Given the description of an element on the screen output the (x, y) to click on. 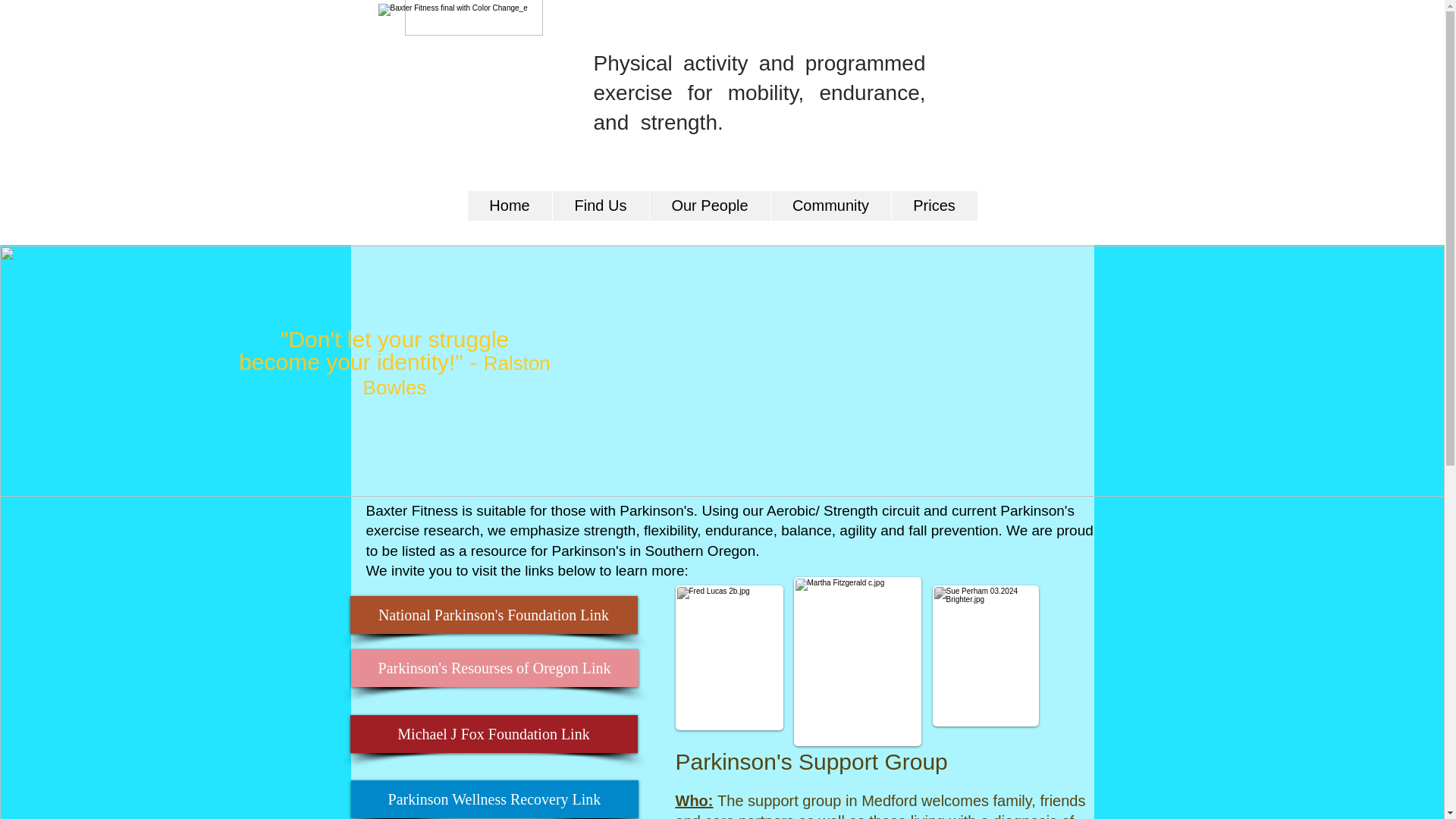
Find Us (600, 205)
Our People (709, 205)
Baxter Fitness final with Color Change.PNG (475, 78)
Michael J Fox Foundation Link (493, 733)
Prices (932, 205)
Parkinson's Resourses of Oregon Link (493, 668)
Home (509, 205)
Parkinson Wellness Recovery Link (493, 799)
National Parkinson's Foundation Link (493, 614)
